Given the description of an element on the screen output the (x, y) to click on. 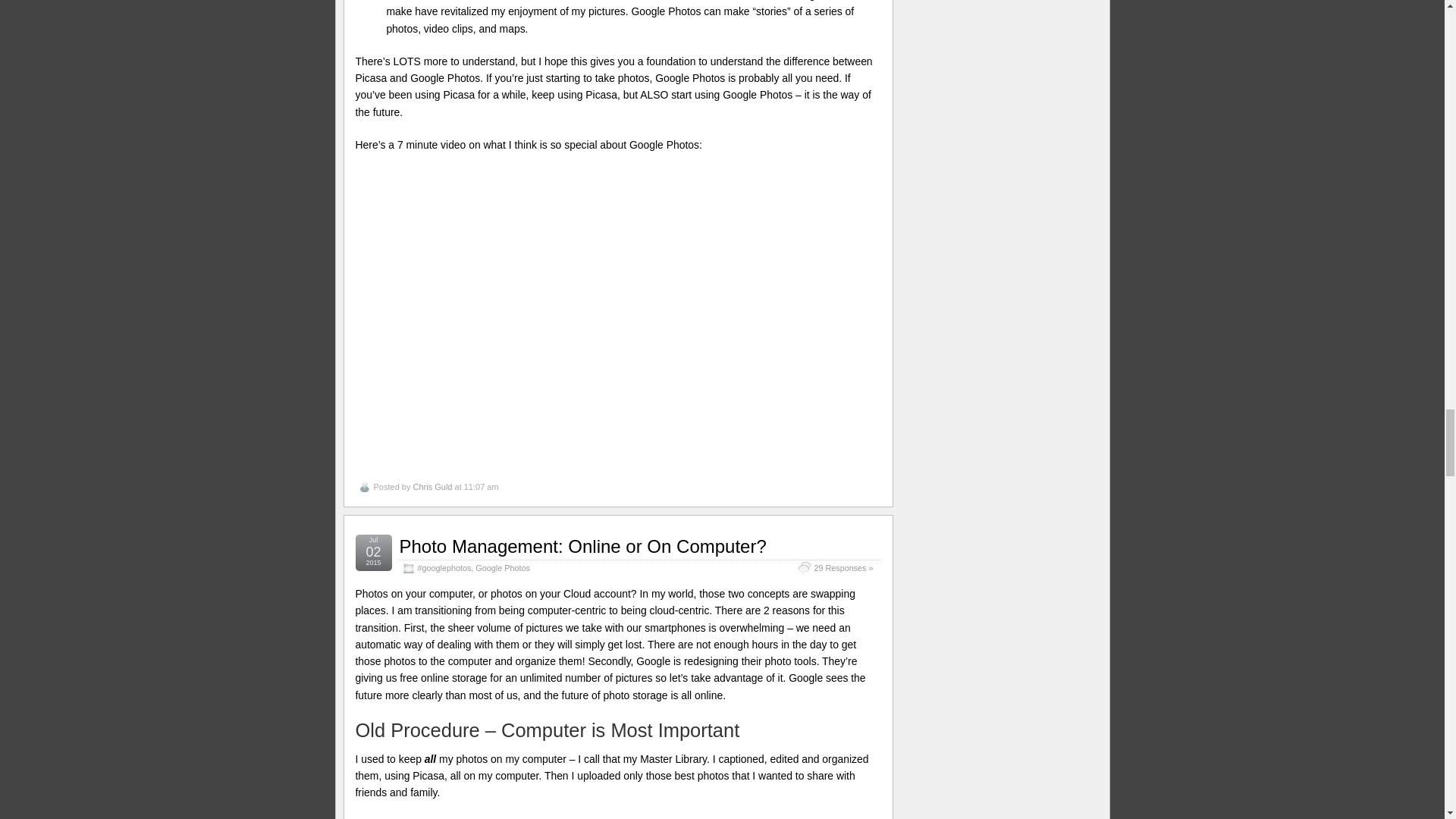
Photo Management: Online or On Computer? (581, 545)
